Given the description of an element on the screen output the (x, y) to click on. 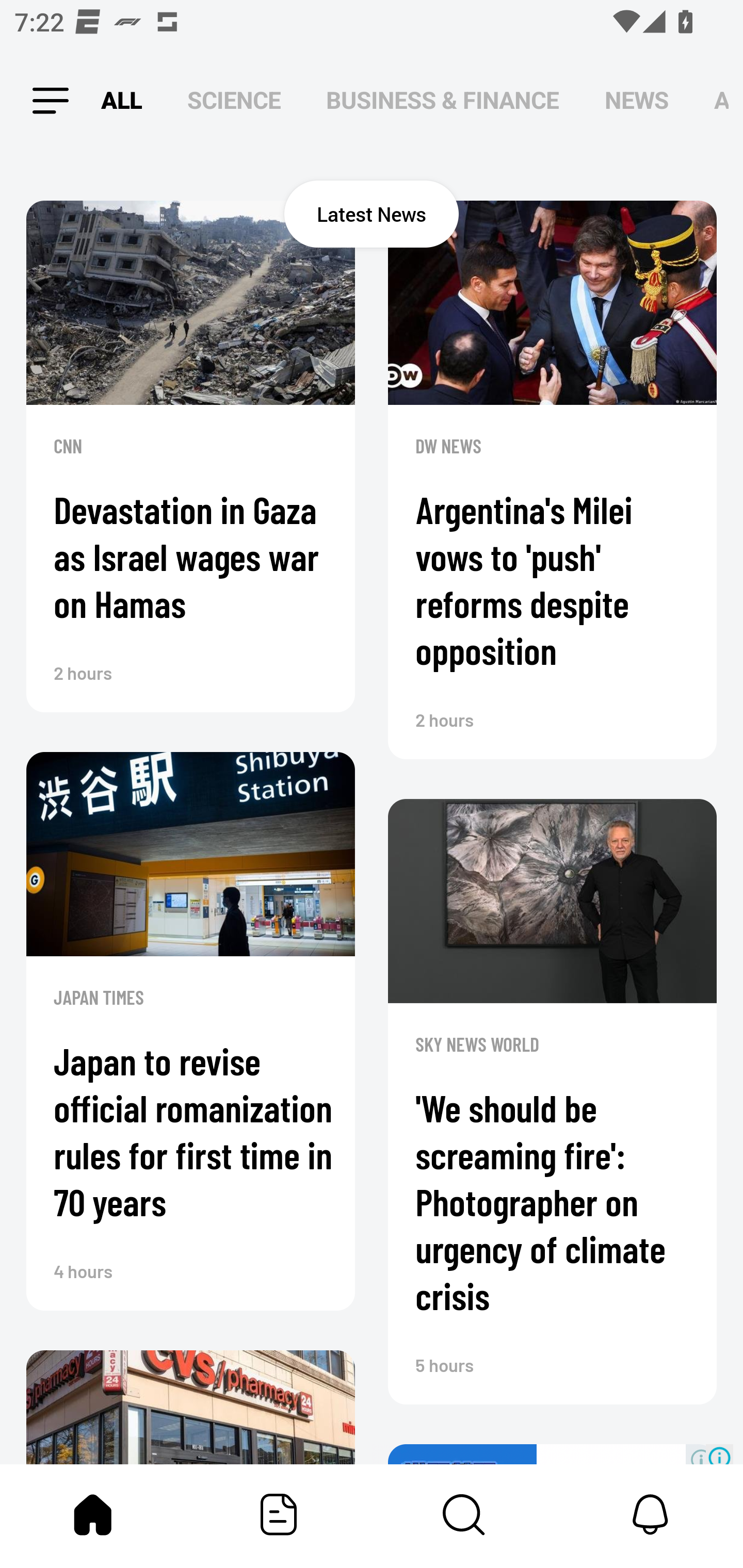
Leading Icon (42, 101)
SCIENCE (233, 100)
BUSINESS & FINANCE (442, 100)
NEWS (636, 100)
Latest News (371, 213)
Featured (278, 1514)
Content Store (464, 1514)
Notifications (650, 1514)
